Given the description of an element on the screen output the (x, y) to click on. 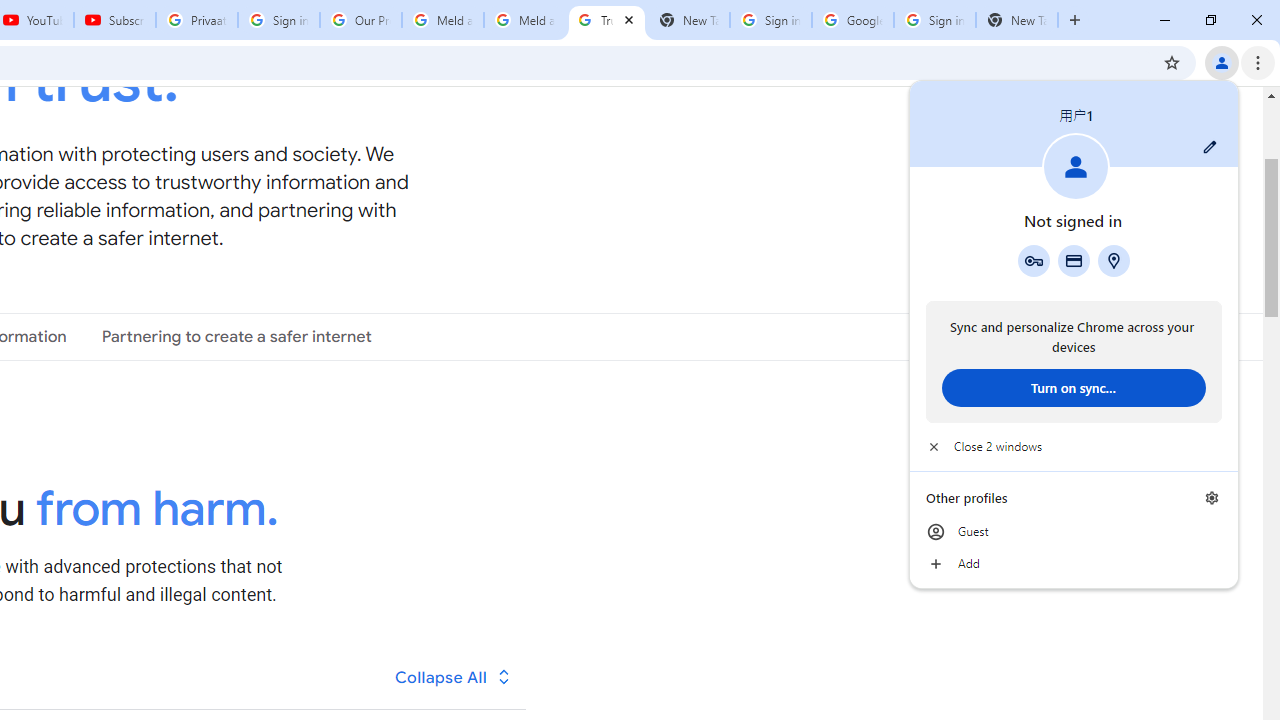
Google Password Manager (1033, 260)
Customize profile (1210, 147)
New Tab (1016, 20)
Guest (1073, 531)
Trusted Information and Content - Google Safety Center (606, 20)
Subscriptions - YouTube (115, 20)
Payment methods (1074, 260)
Manage profiles (1211, 498)
